Given the description of an element on the screen output the (x, y) to click on. 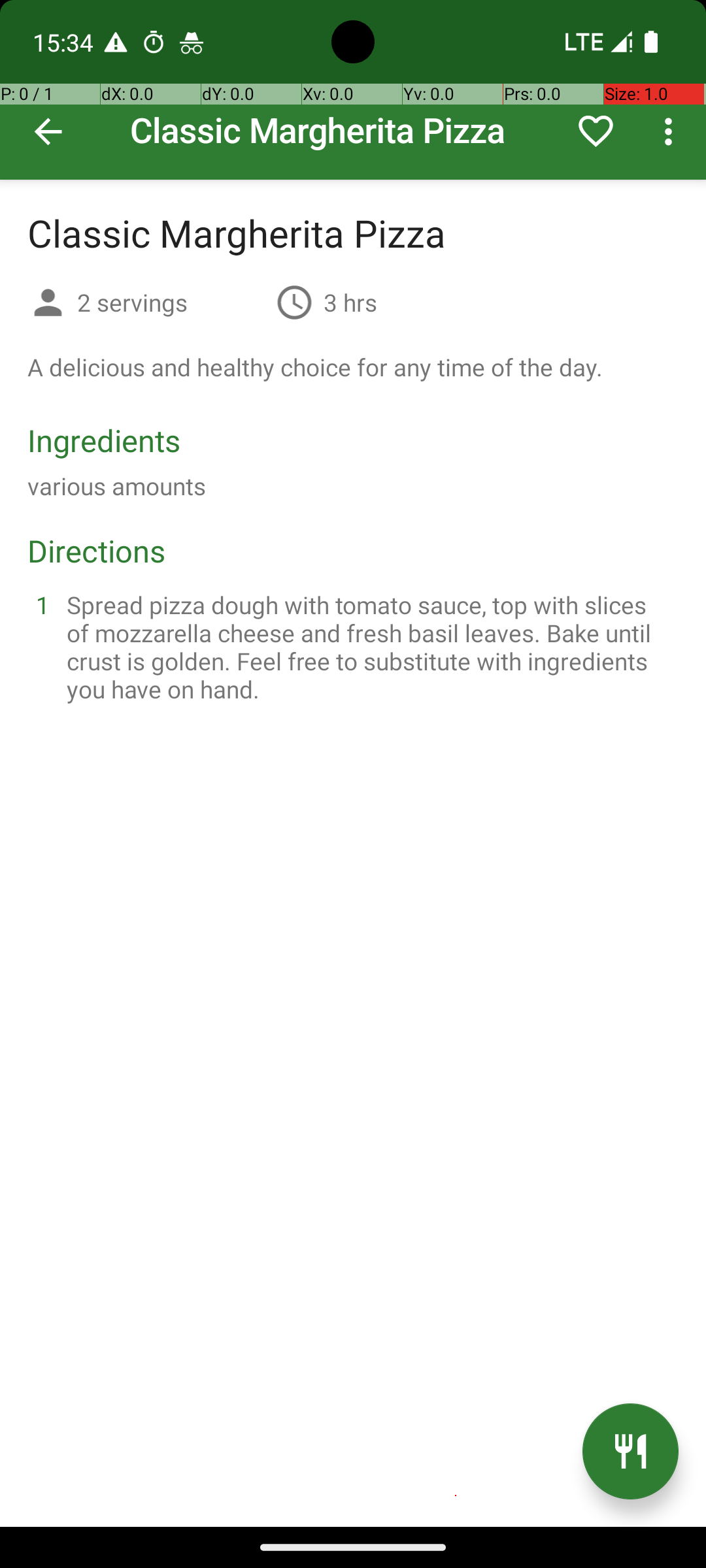
Spread pizza dough with tomato sauce, top with slices of mozzarella cheese and fresh basil leaves. Bake until crust is golden. Feel free to substitute with ingredients you have on hand. Element type: android.widget.TextView (368, 646)
